Given the description of an element on the screen output the (x, y) to click on. 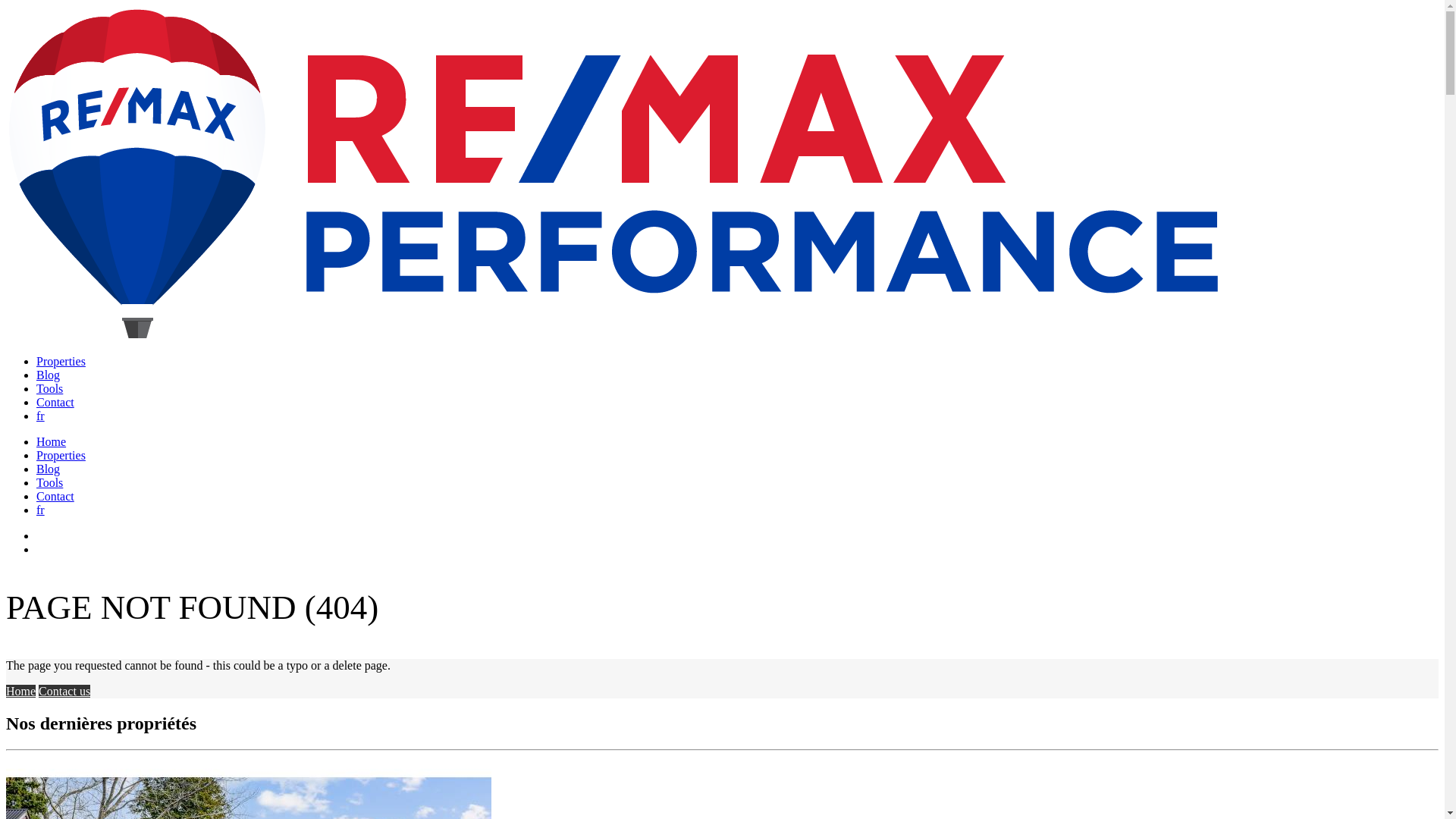
Blog Element type: text (47, 374)
fr Element type: text (40, 509)
Home Element type: text (50, 441)
Contact us Element type: text (64, 690)
Properties Element type: text (60, 360)
Home Element type: text (20, 690)
Tools Element type: text (49, 482)
Blog Element type: text (47, 468)
fr Element type: text (40, 415)
Contact Element type: text (55, 401)
Properties Element type: text (60, 454)
Tools Element type: text (49, 388)
Contact Element type: text (55, 495)
